Given the description of an element on the screen output the (x, y) to click on. 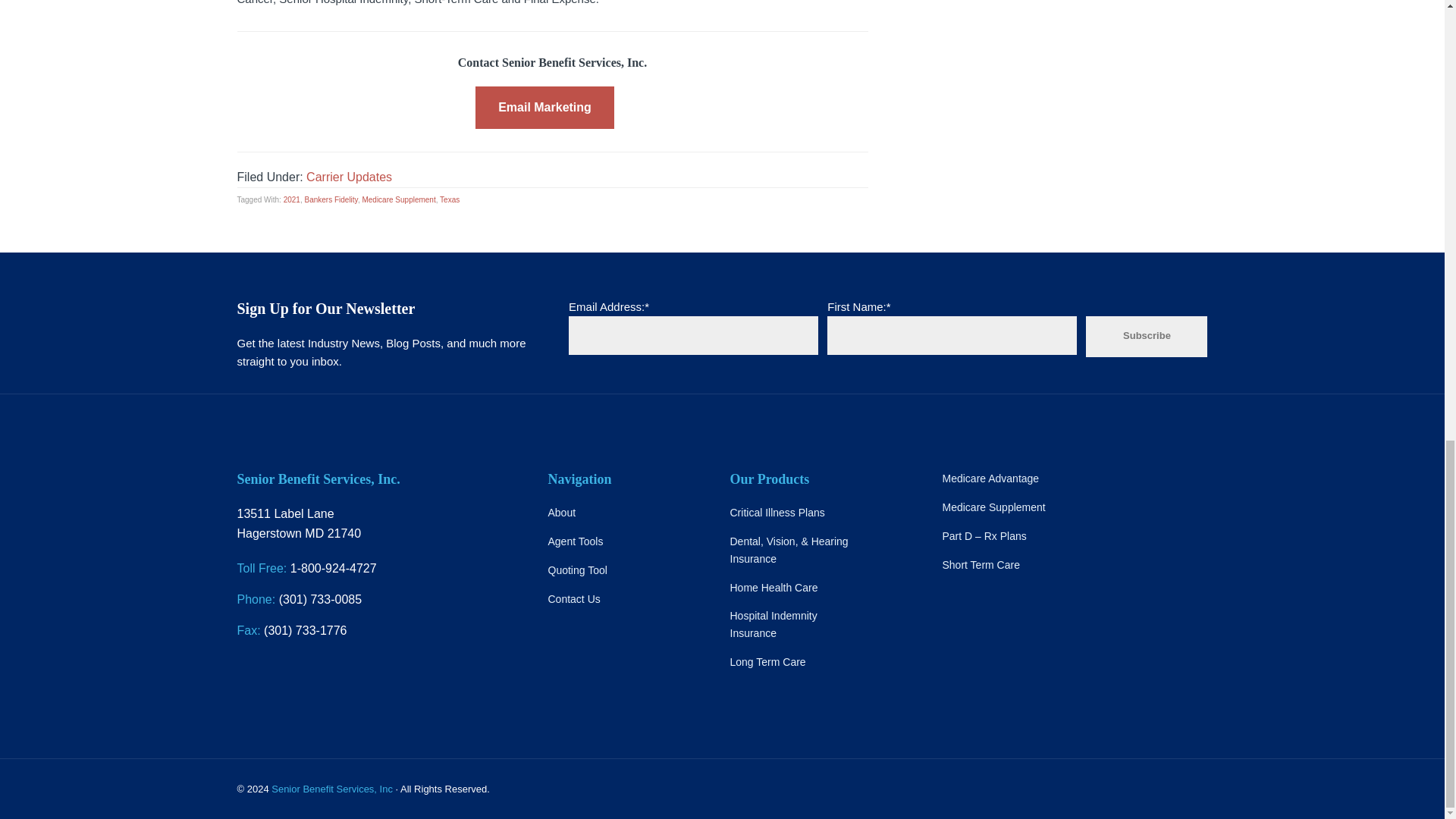
Subscribe (1146, 336)
